Given the description of an element on the screen output the (x, y) to click on. 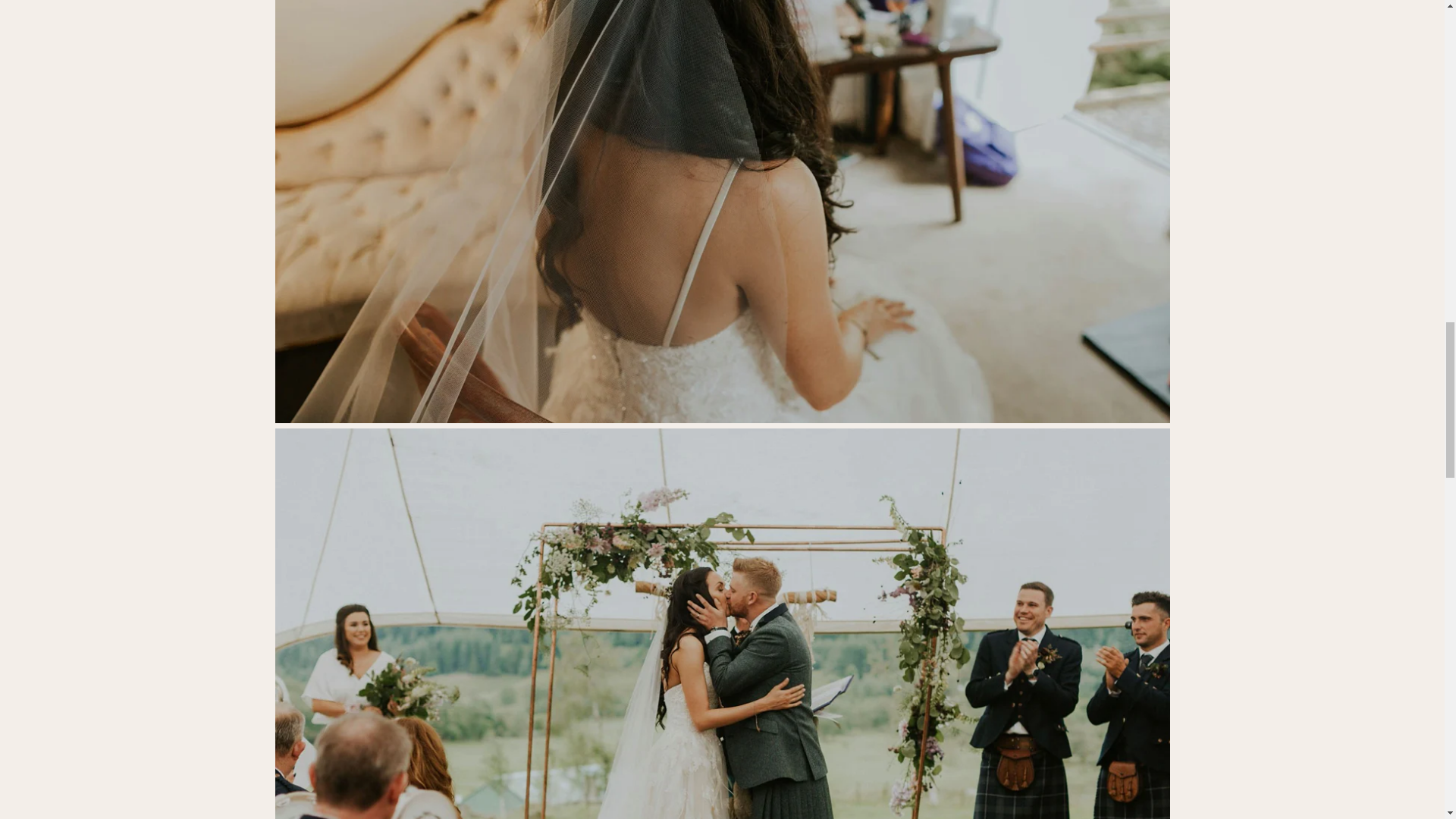
minimal wedding veil (722, 418)
